Given the description of an element on the screen output the (x, y) to click on. 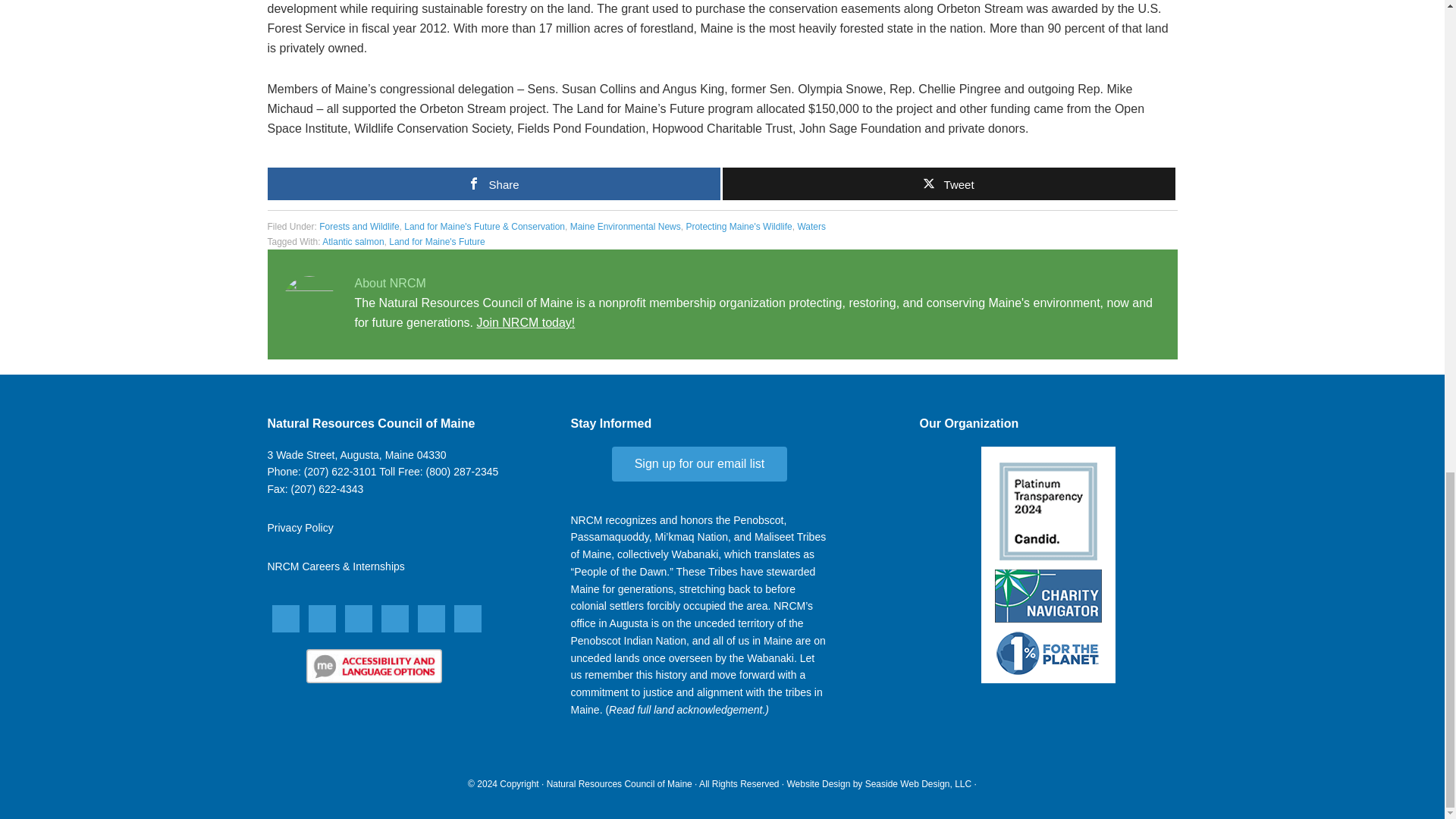
Contact Us (355, 454)
